Given the description of an element on the screen output the (x, y) to click on. 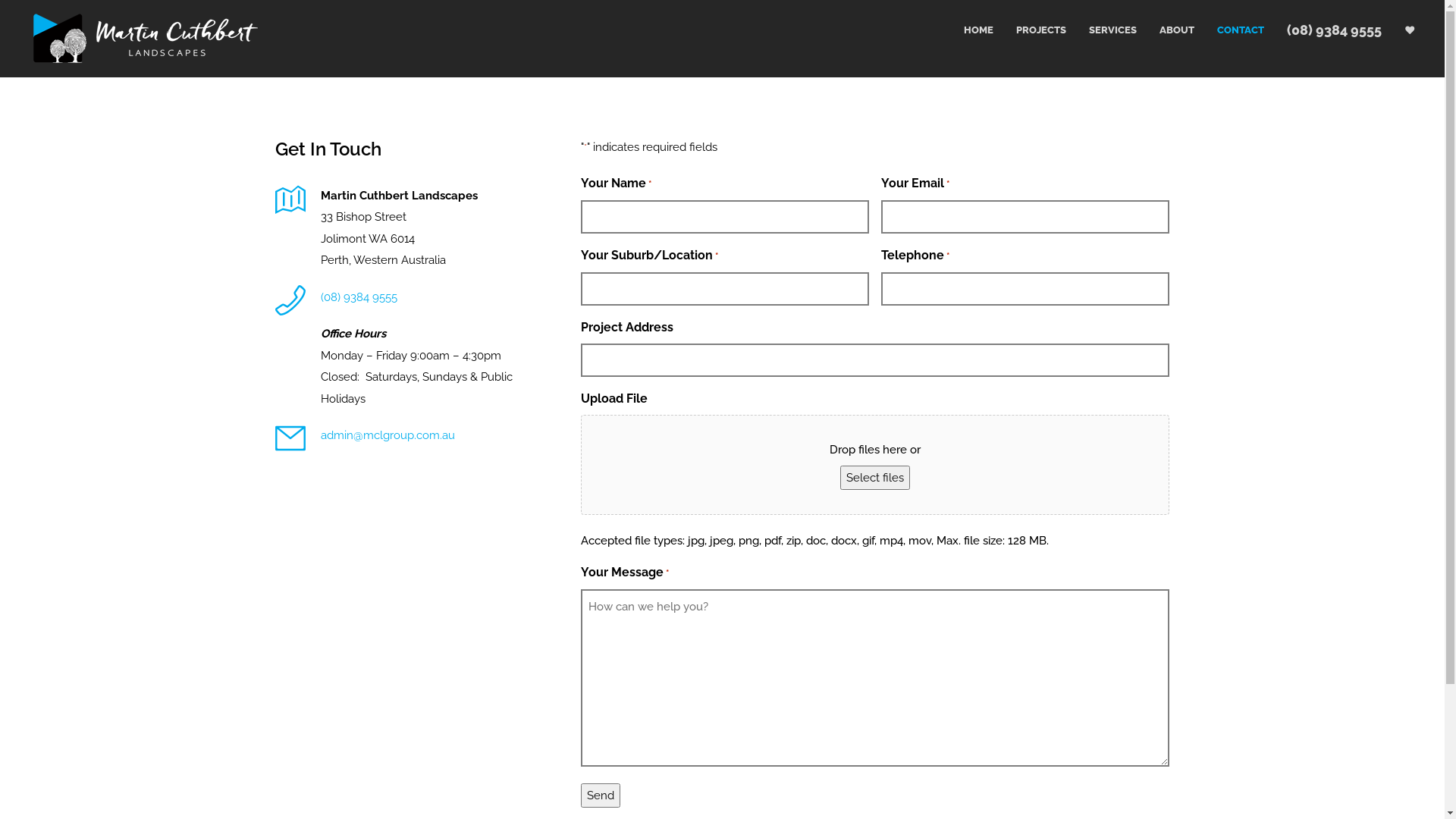
(08) 9384 9555 Element type: text (358, 297)
admin@mclgroup.com.au Element type: text (387, 435)
Send Element type: text (600, 794)
SERVICES Element type: text (1101, 30)
CONTACT Element type: text (1229, 30)
PROJECTS Element type: text (1029, 30)
 HOME Element type: text (965, 30)
ABOUT Element type: text (1165, 30)
Select files Element type: text (875, 477)
(08) 9384 9555 Element type: text (1322, 30)
